Given the description of an element on the screen output the (x, y) to click on. 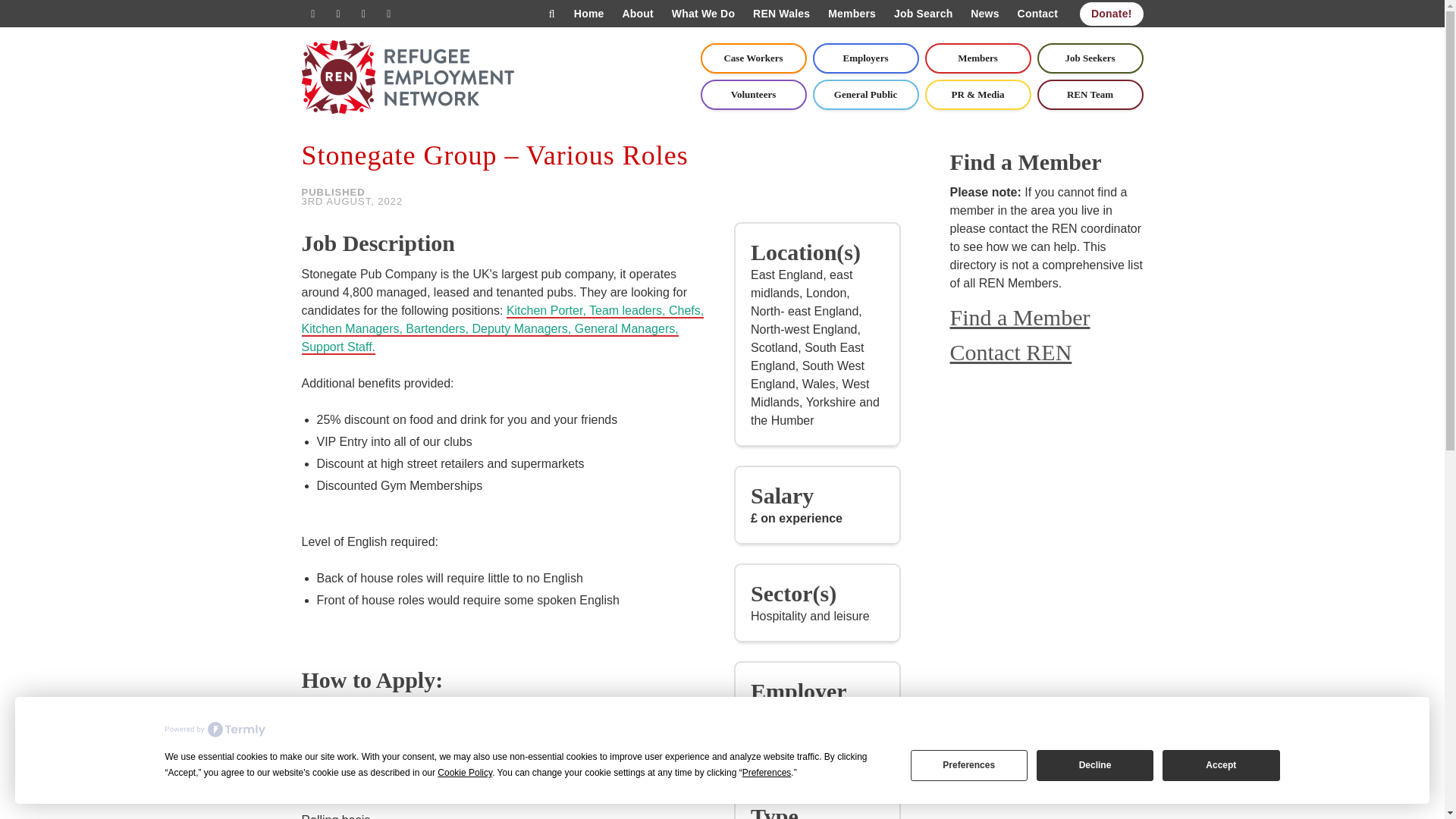
Members (852, 13)
REN Team (1090, 94)
Donate! (1111, 13)
About (637, 13)
What We Do (702, 13)
Refugee Employment Network on Facebook (363, 14)
Refugee Employment Network on X Twitter (312, 14)
Employers (865, 58)
Refugee Employment Network on Linkedin (338, 14)
Decline (1094, 764)
Job Seekers (1090, 58)
Job Search (922, 13)
Preferences (969, 764)
Members (977, 58)
Refugee Employment Network on Instagram (388, 14)
